Given the description of an element on the screen output the (x, y) to click on. 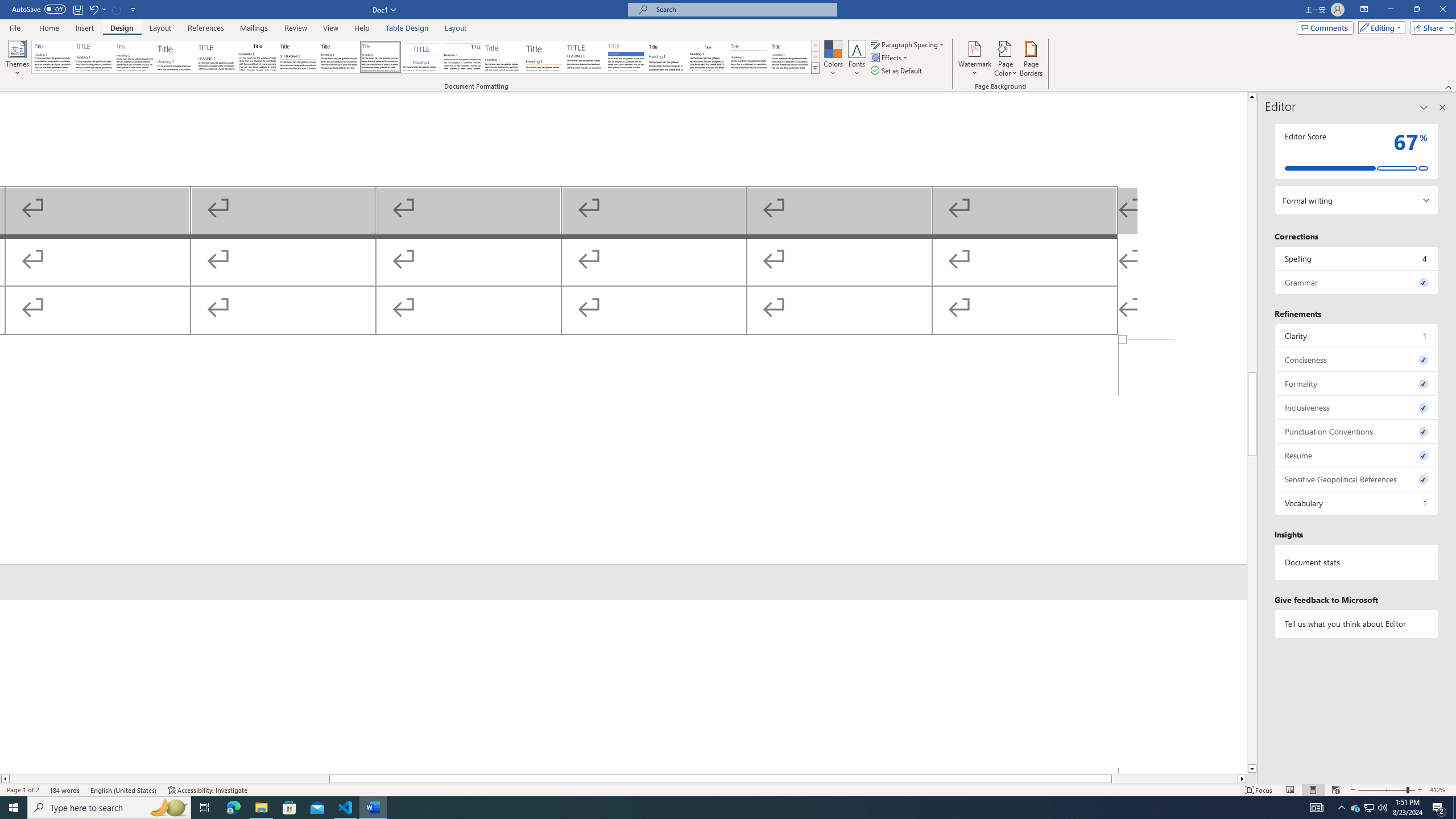
Effects (890, 56)
Lines (Distinctive) (462, 56)
Vocabulary, 1 issue. Press space or enter to review items. (1356, 502)
Centered (421, 56)
Can't Repeat (117, 9)
Undo Outline Move Up (92, 9)
Fonts (856, 58)
